Given the description of an element on the screen output the (x, y) to click on. 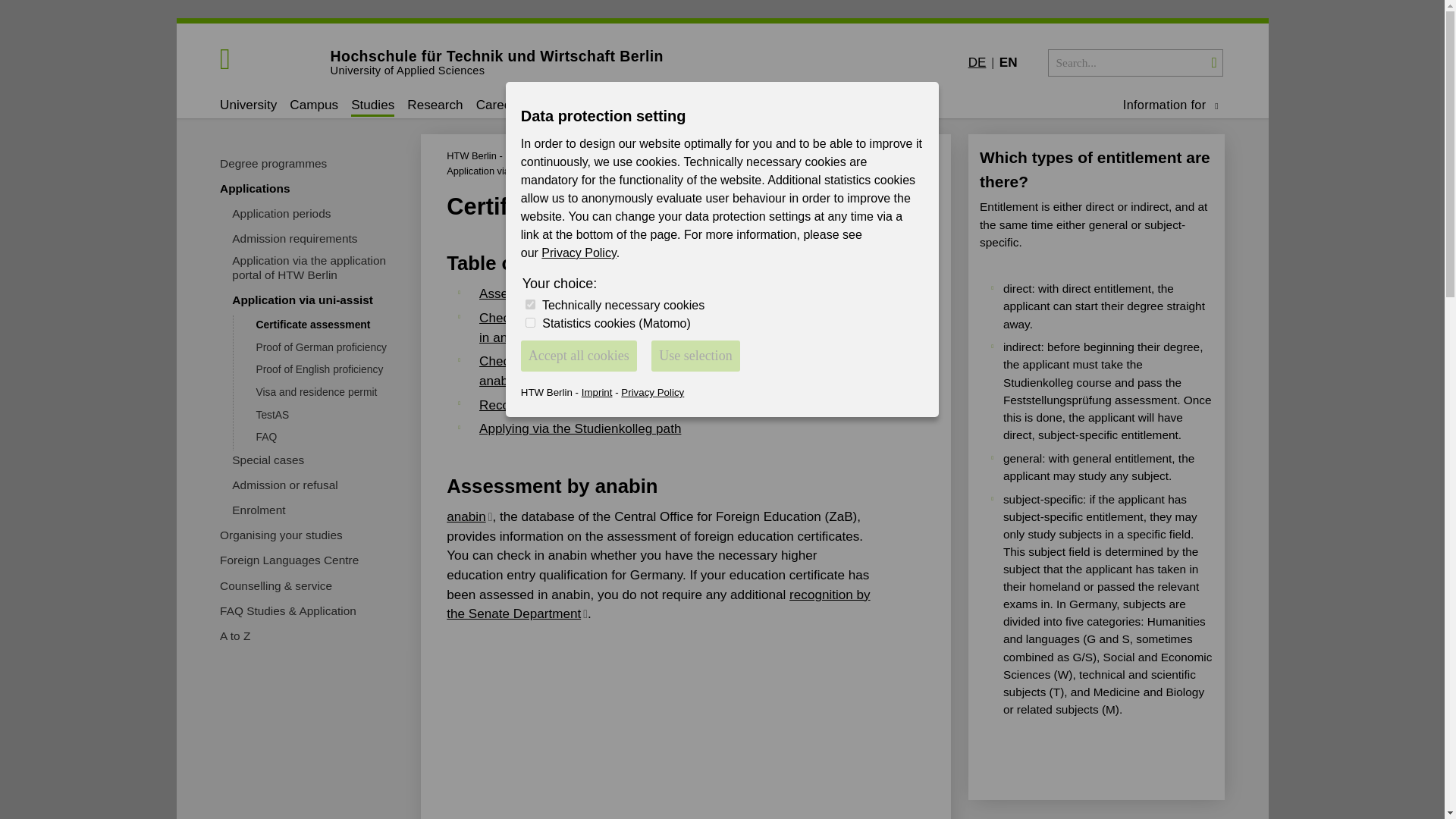
University (247, 105)
TestAS (272, 415)
Application via the application portal of HTW Berlin (319, 268)
Application periods (280, 214)
Research (435, 105)
University of Applied Sciences (496, 70)
Applying via the Studienkolleg path (580, 428)
Special cases (267, 461)
Admission requirements (293, 239)
DE (977, 62)
necessary (530, 304)
Assessment by anabin (544, 293)
Application via uni-assist (301, 301)
FAQ (266, 437)
Applications (254, 189)
